Given the description of an element on the screen output the (x, y) to click on. 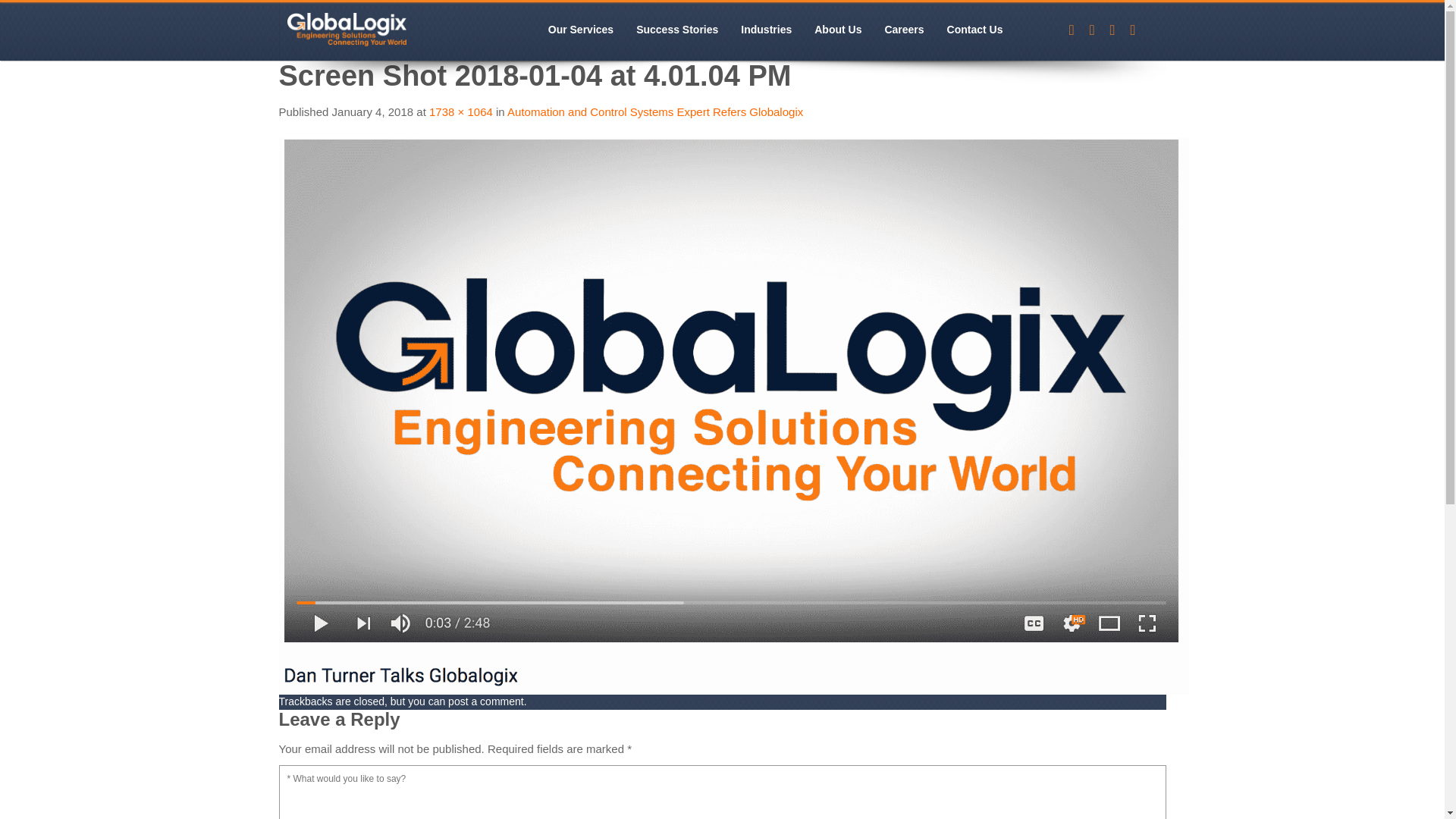
About Us (837, 30)
Screen Shot 2018-01-04 at 4.01.04 PM (734, 413)
Careers (903, 30)
Success Stories (676, 30)
Link to full-size image (461, 111)
Contact Us (975, 30)
Our Services (580, 30)
Post a comment (486, 701)
Industries (766, 30)
